Given the description of an element on the screen output the (x, y) to click on. 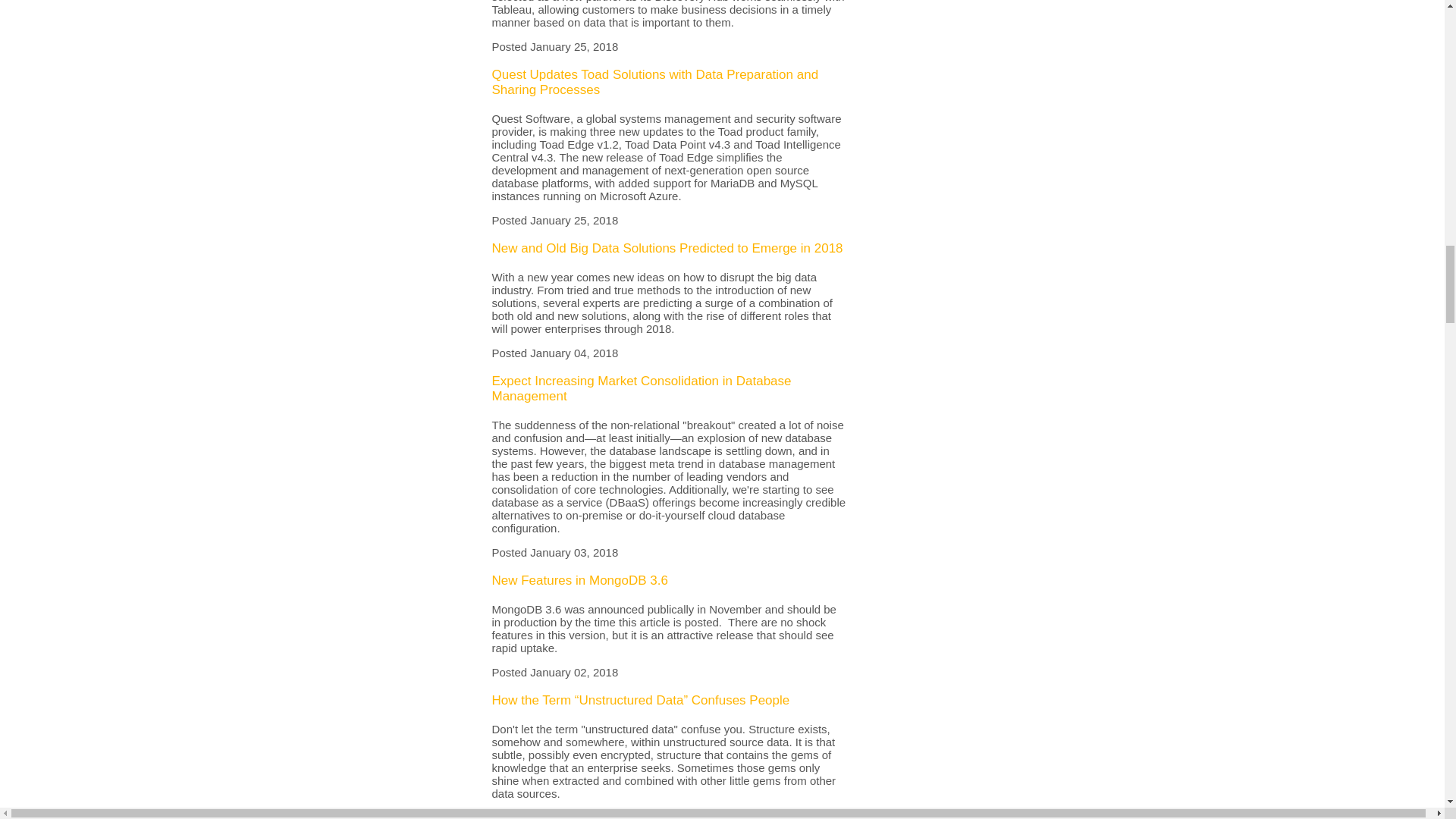
New and Old Big Data Solutions Predicted to Emerge in 2018 (667, 247)
